Given the description of an element on the screen output the (x, y) to click on. 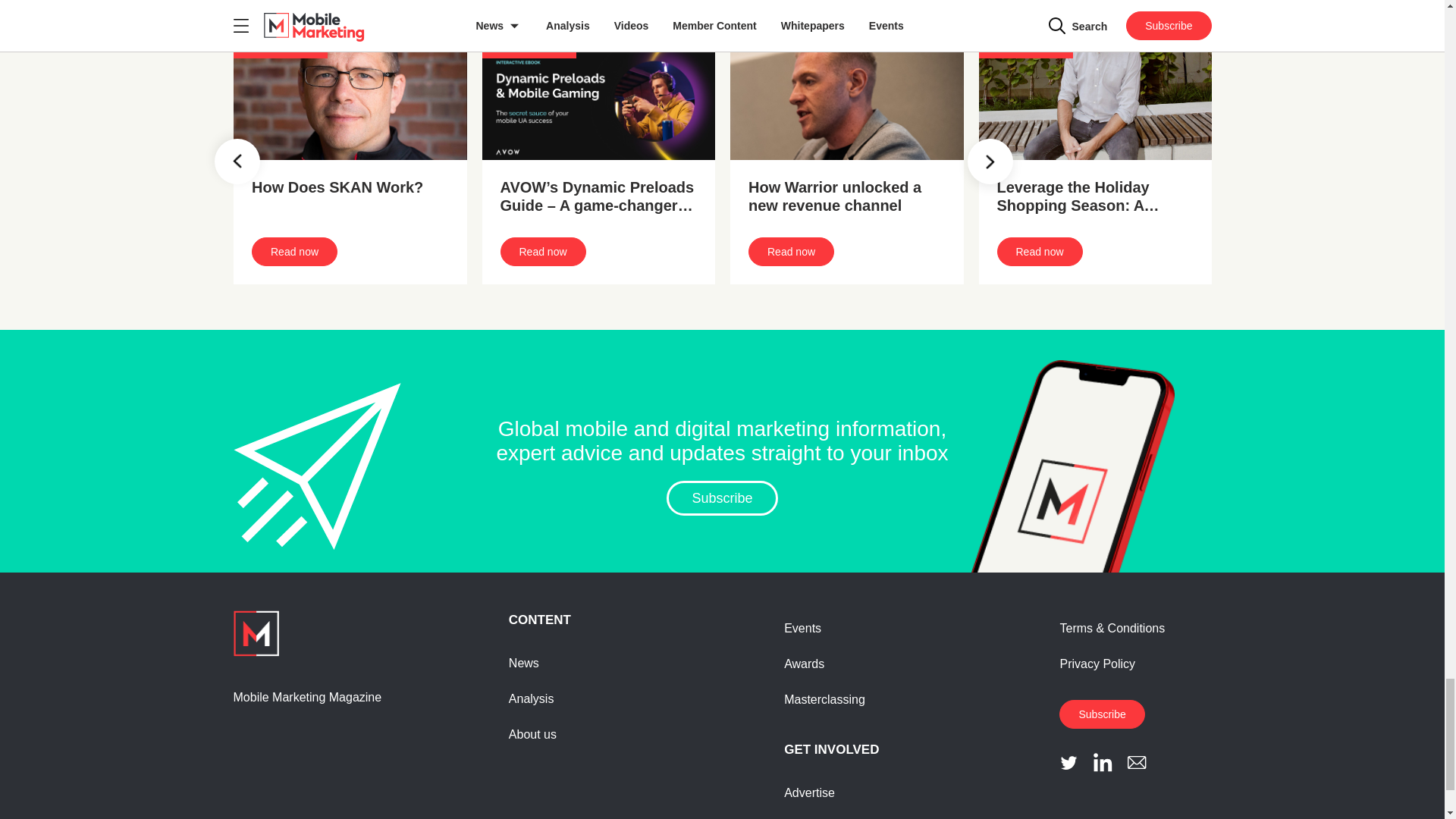
Twitter icon (1068, 762)
